Given the description of an element on the screen output the (x, y) to click on. 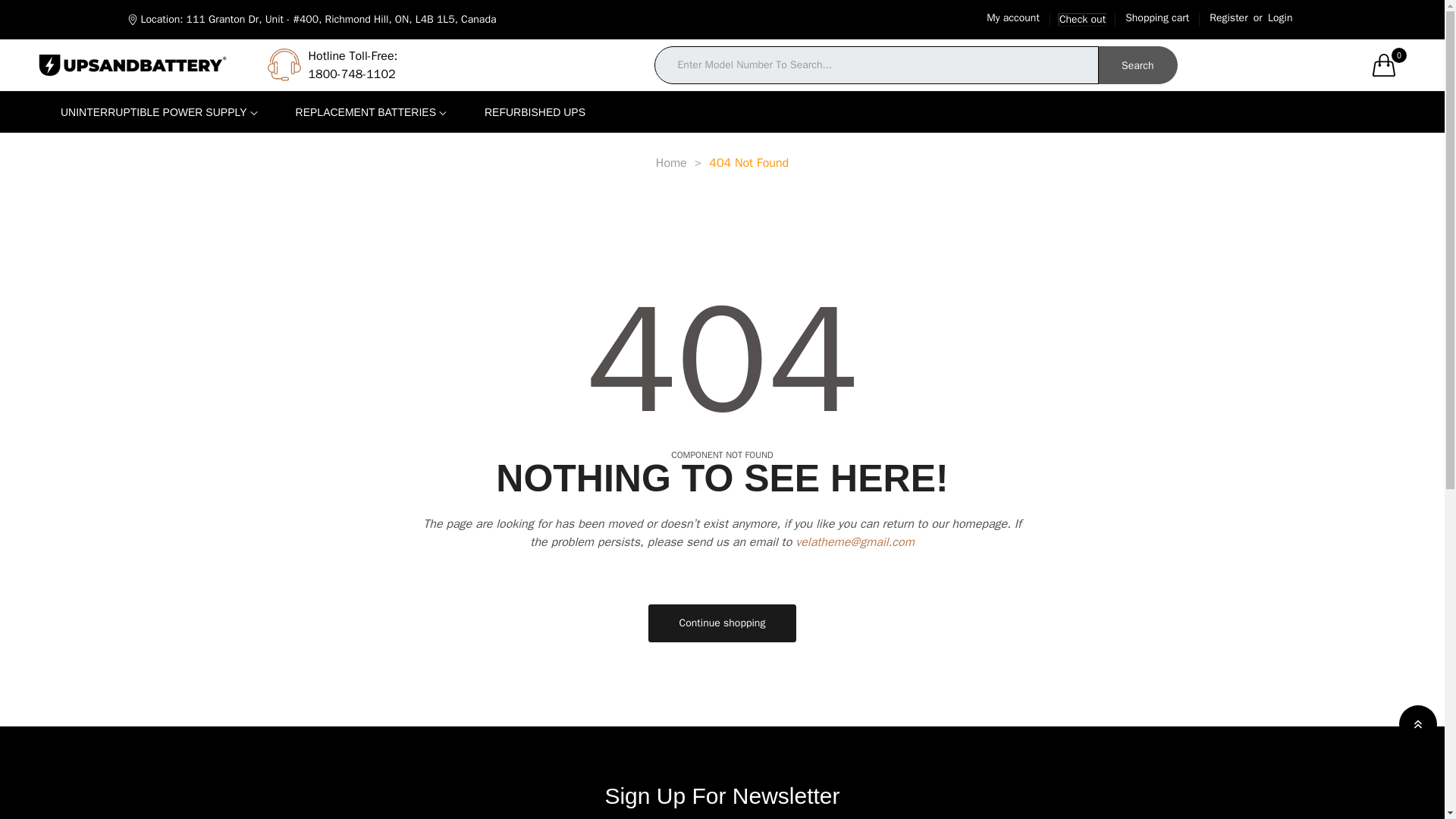
Home (671, 162)
Home (671, 162)
0 (1389, 64)
My account (1013, 17)
REPLACEMENT BATTERIES (370, 111)
Shopping cart (1156, 17)
Login (1279, 17)
UNINTERRUPTIBLE POWER SUPPLY (159, 111)
My account (1013, 17)
Refurbished UPS (534, 111)
REFURBISHED UPS (534, 111)
UNINTERRUPTIBLE POWER SUPPLY (159, 111)
Search (1137, 64)
Check out (1082, 18)
Continue shopping (721, 623)
